Given the description of an element on the screen output the (x, y) to click on. 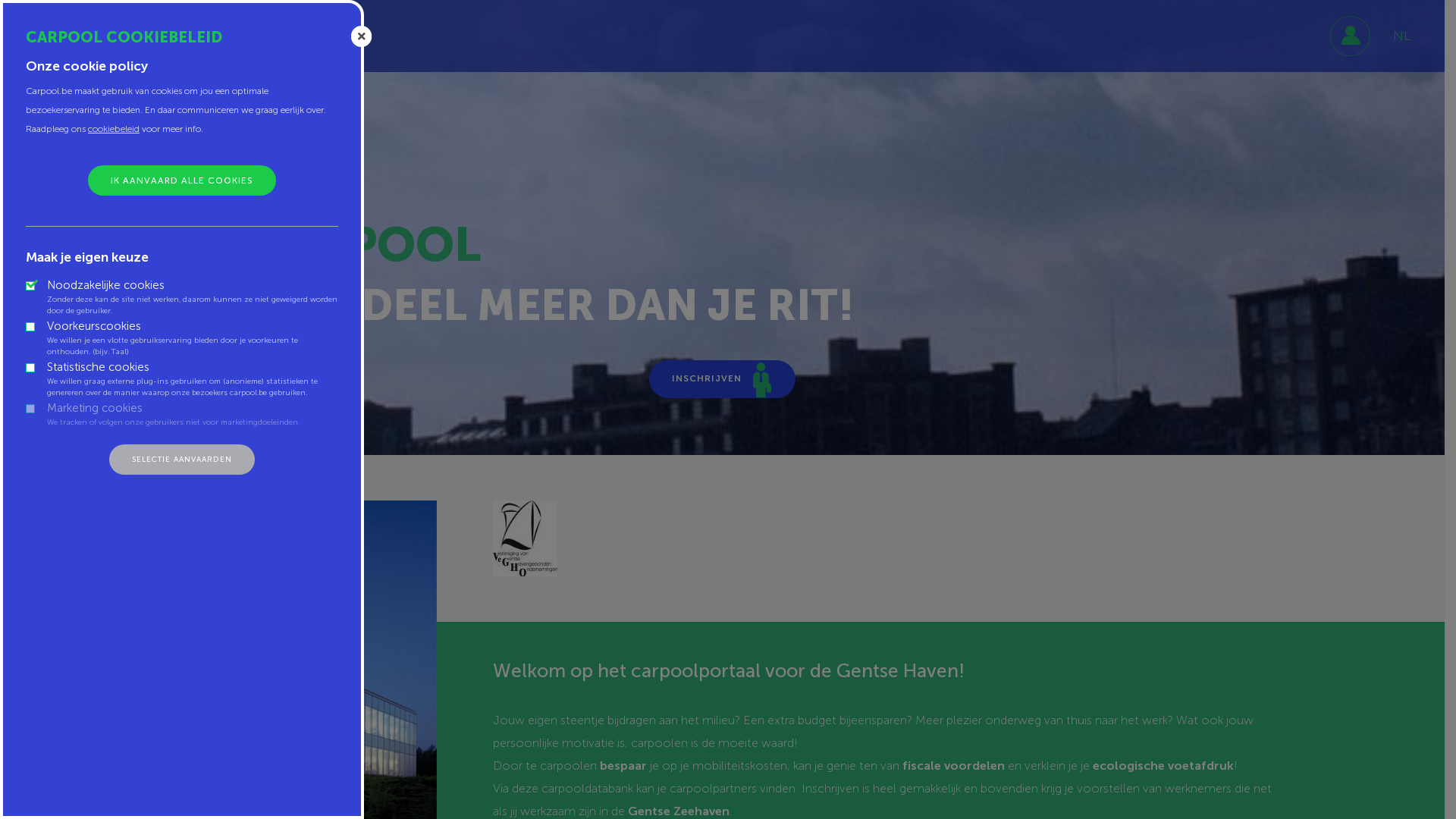
SELECTIE AANVAARDEN Element type: text (181, 459)
cookiebeleid Element type: text (113, 128)
IK AANVAARD ALLE COOKIES Element type: text (181, 180)
NL Element type: text (1401, 35)
